Given the description of an element on the screen output the (x, y) to click on. 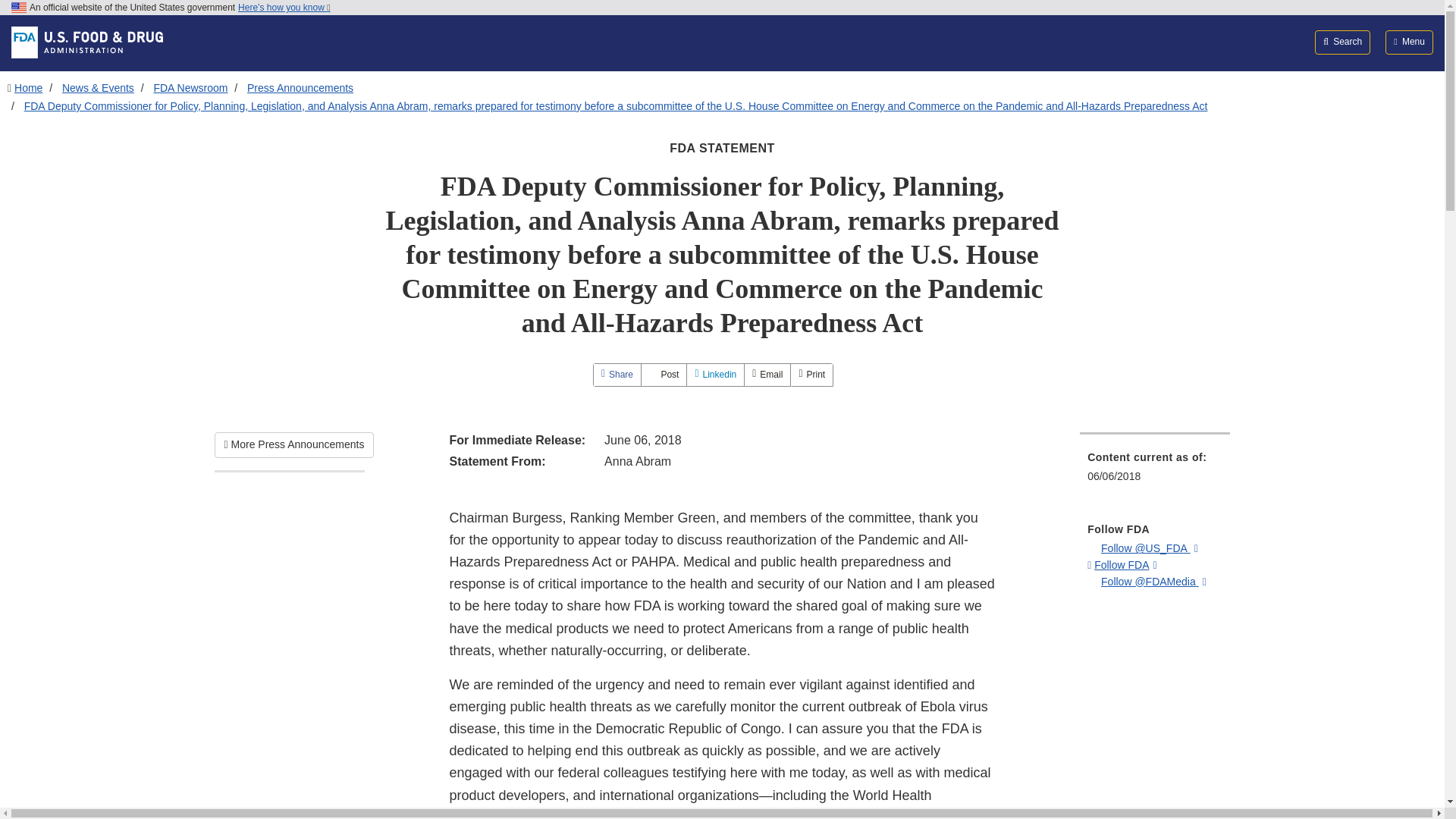
Print this page (811, 374)
  Menu (1409, 42)
  Search (1342, 42)
